Given the description of an element on the screen output the (x, y) to click on. 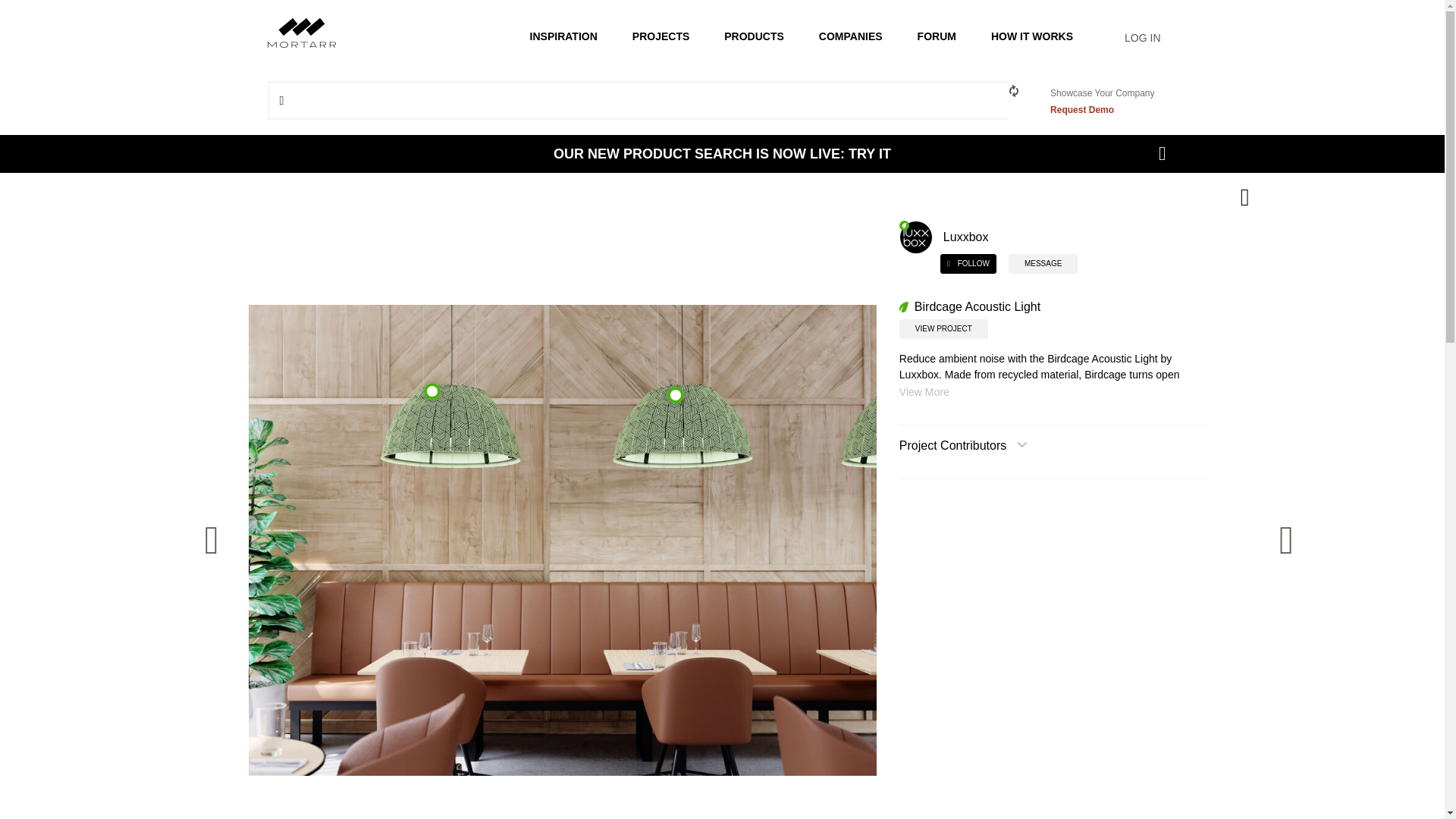
FORUM (936, 37)
Request Demo (1081, 109)
VIEW PROJECT (943, 328)
LOG IN (1136, 36)
INSPIRATION (564, 37)
PROJECTS (660, 37)
COMPANIES (850, 37)
MESSAGE (1043, 263)
HOW IT WORKS (1031, 37)
